Given the description of an element on the screen output the (x, y) to click on. 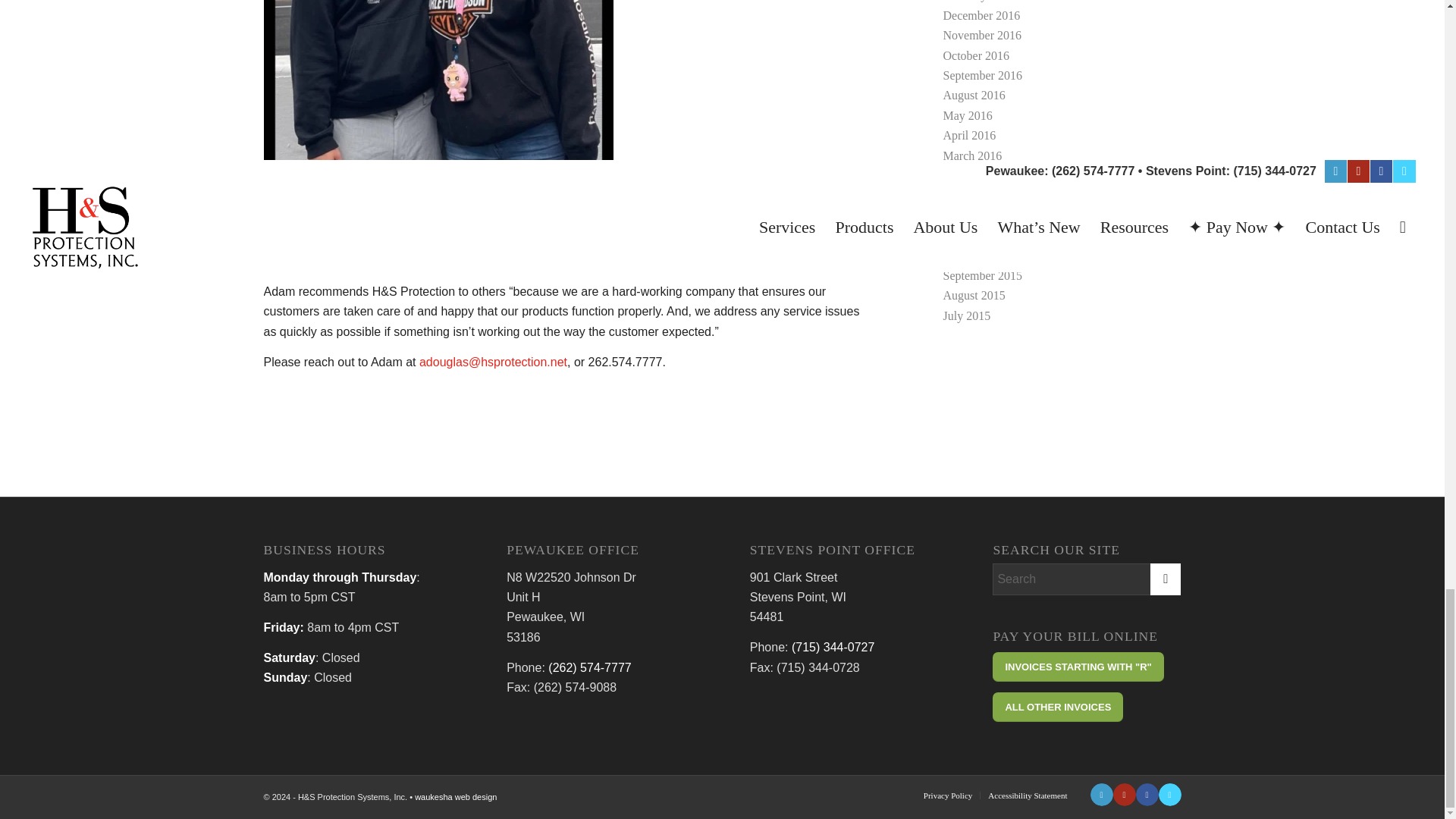
LinkedIn (1101, 793)
X (1169, 793)
Facebook (1146, 793)
Youtube (1124, 793)
Milwaukee Web Design, LLC (455, 796)
